Given the description of an element on the screen output the (x, y) to click on. 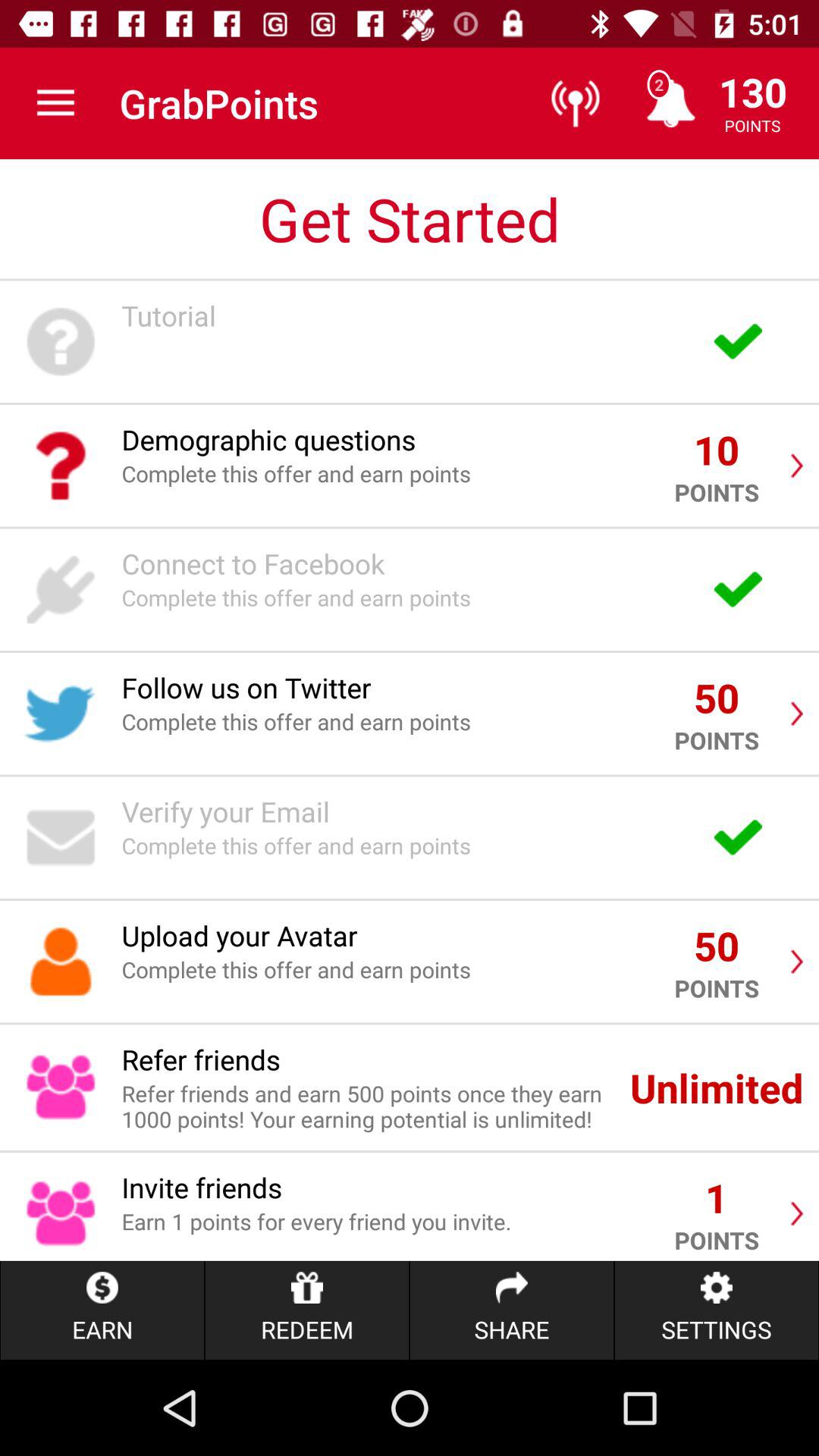
launch the icon above get started (55, 103)
